Given the description of an element on the screen output the (x, y) to click on. 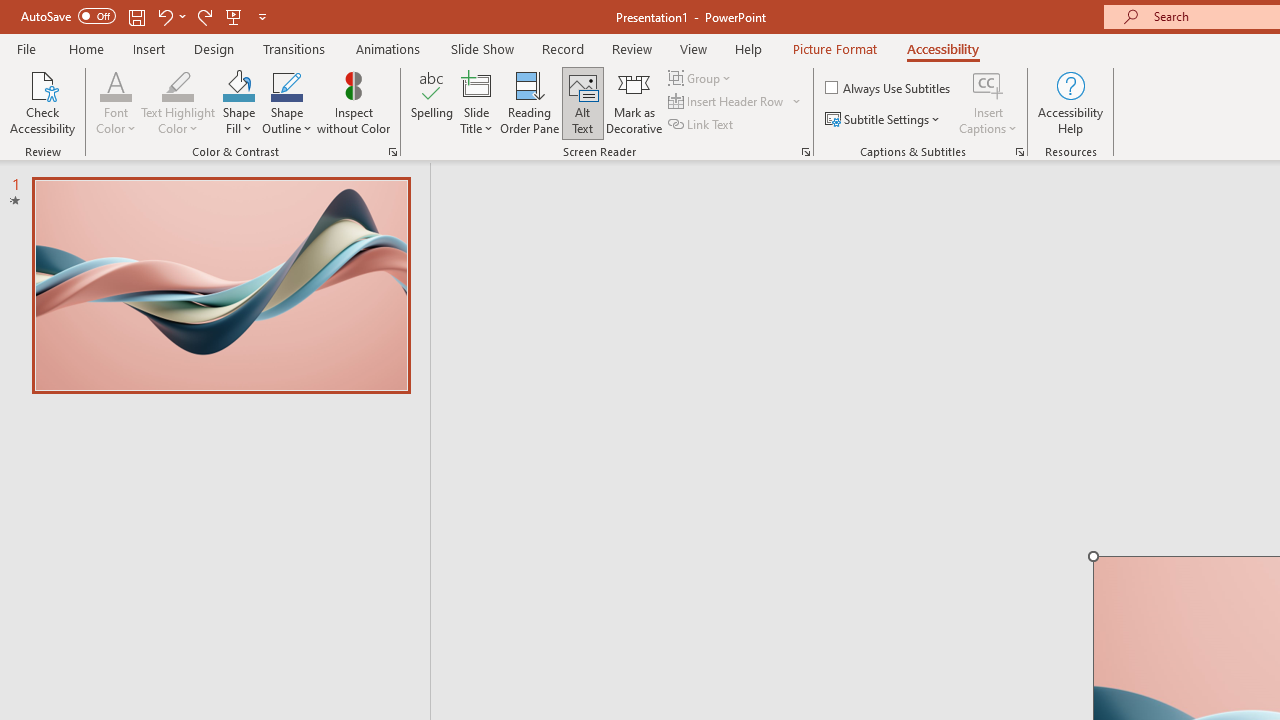
Captions & Subtitles (1019, 151)
Always Use Subtitles (889, 87)
Mark as Decorative (634, 102)
Inspect without Color (353, 102)
